Given the description of an element on the screen output the (x, y) to click on. 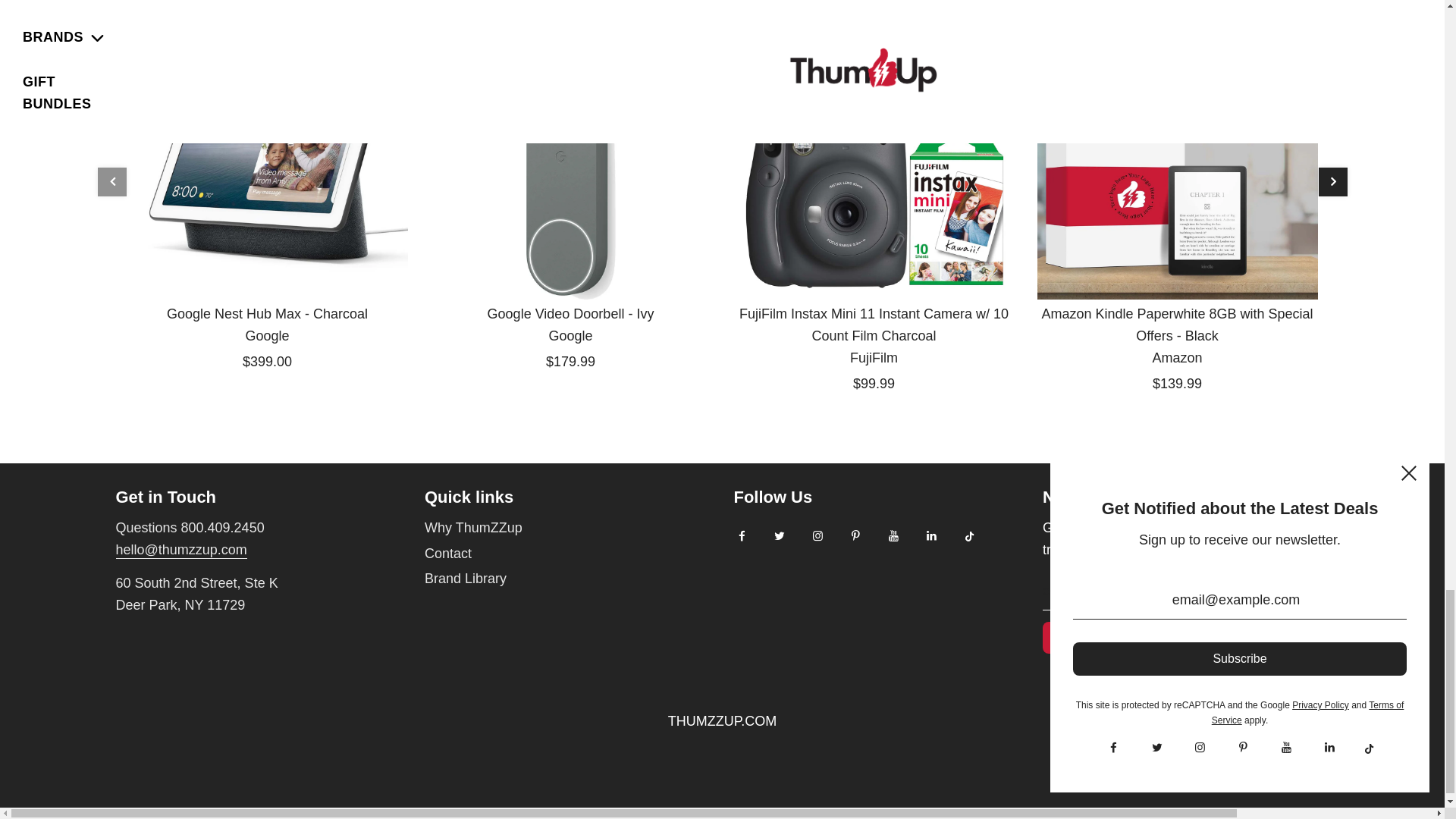
Google Video Doorbell - Ivy (570, 158)
null (180, 550)
Subscribe (1088, 637)
Amazon Kindle Paperwhite 8GB with Special Offers - Black (1176, 158)
Google Nest Hub Max - Charcoal (267, 158)
